Given the description of an element on the screen output the (x, y) to click on. 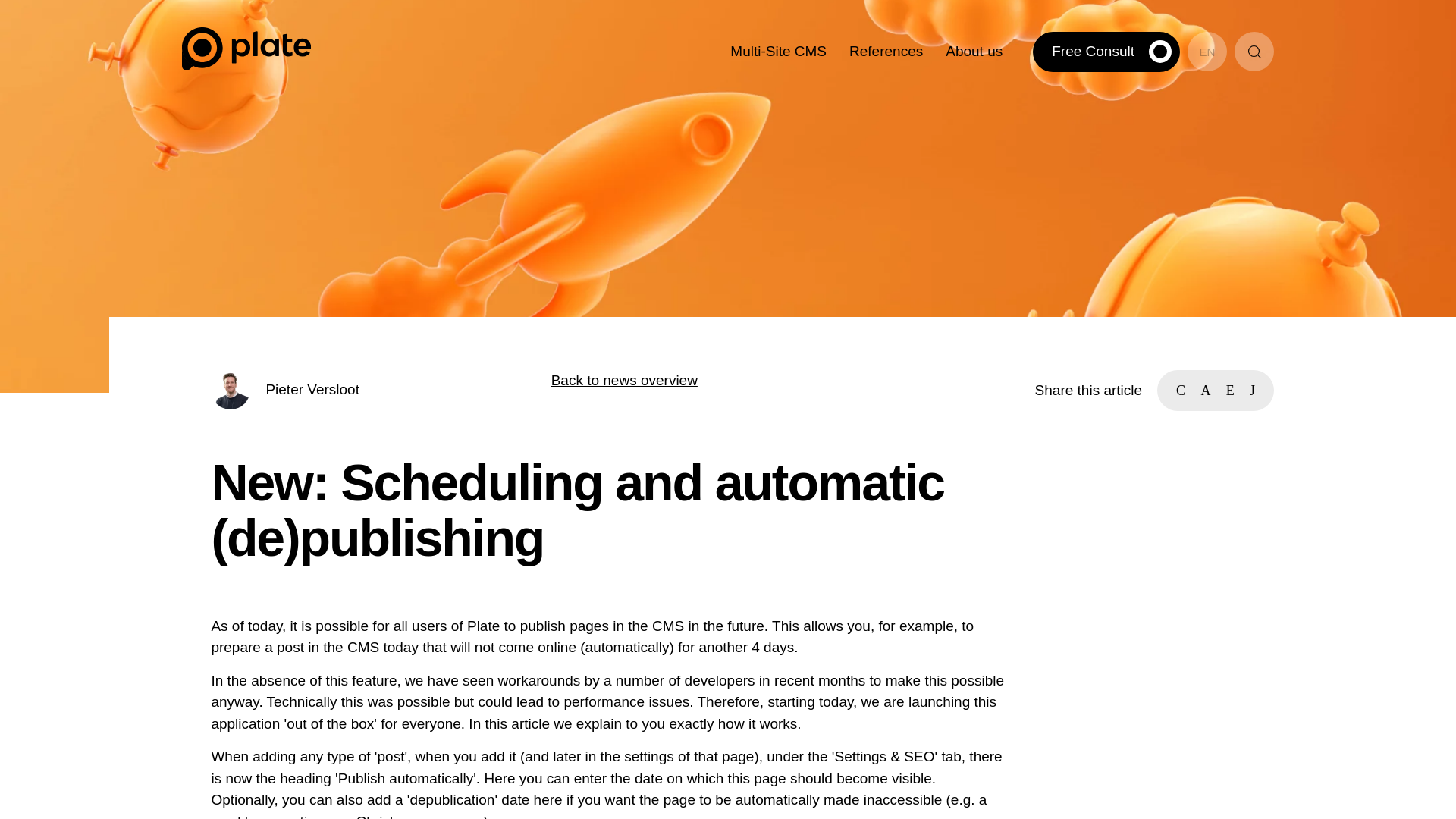
Back to news overview (624, 380)
References (885, 50)
Multi-Site CMS (778, 50)
Free Consult (1105, 51)
About us (973, 50)
EN (1207, 51)
